Given the description of an element on the screen output the (x, y) to click on. 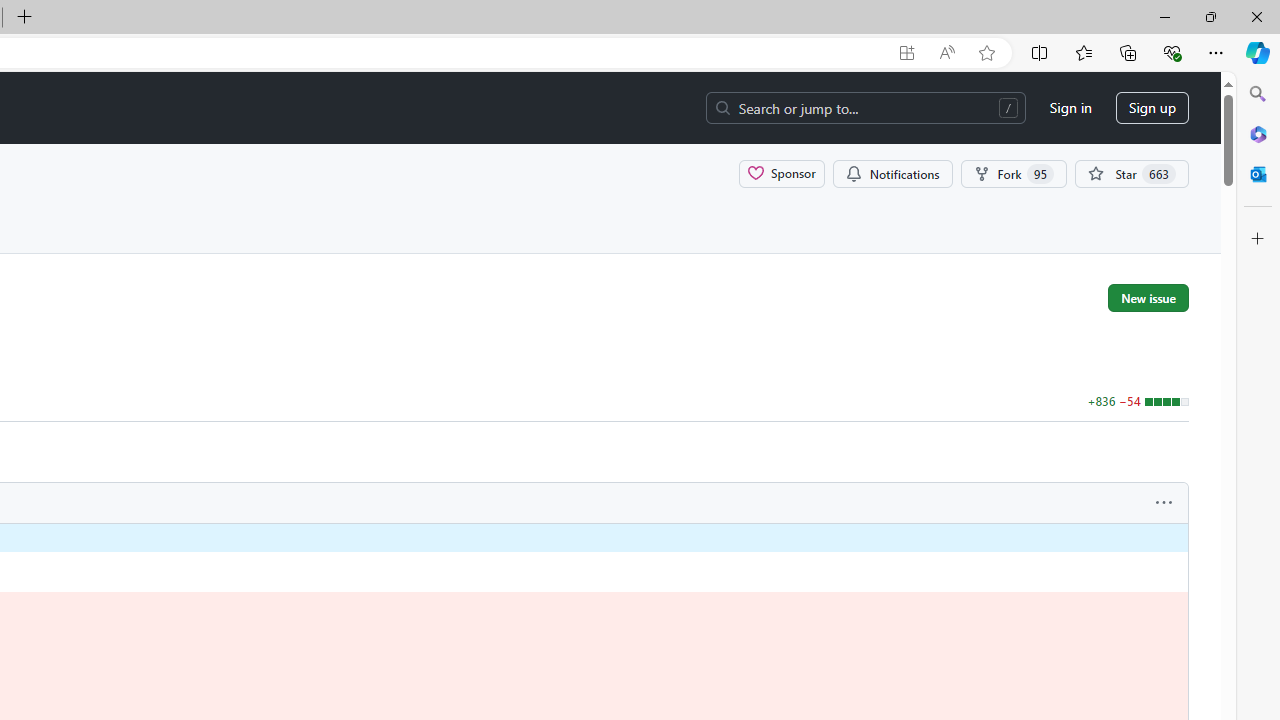
Show options (1163, 503)
